Given the description of an element on the screen output the (x, y) to click on. 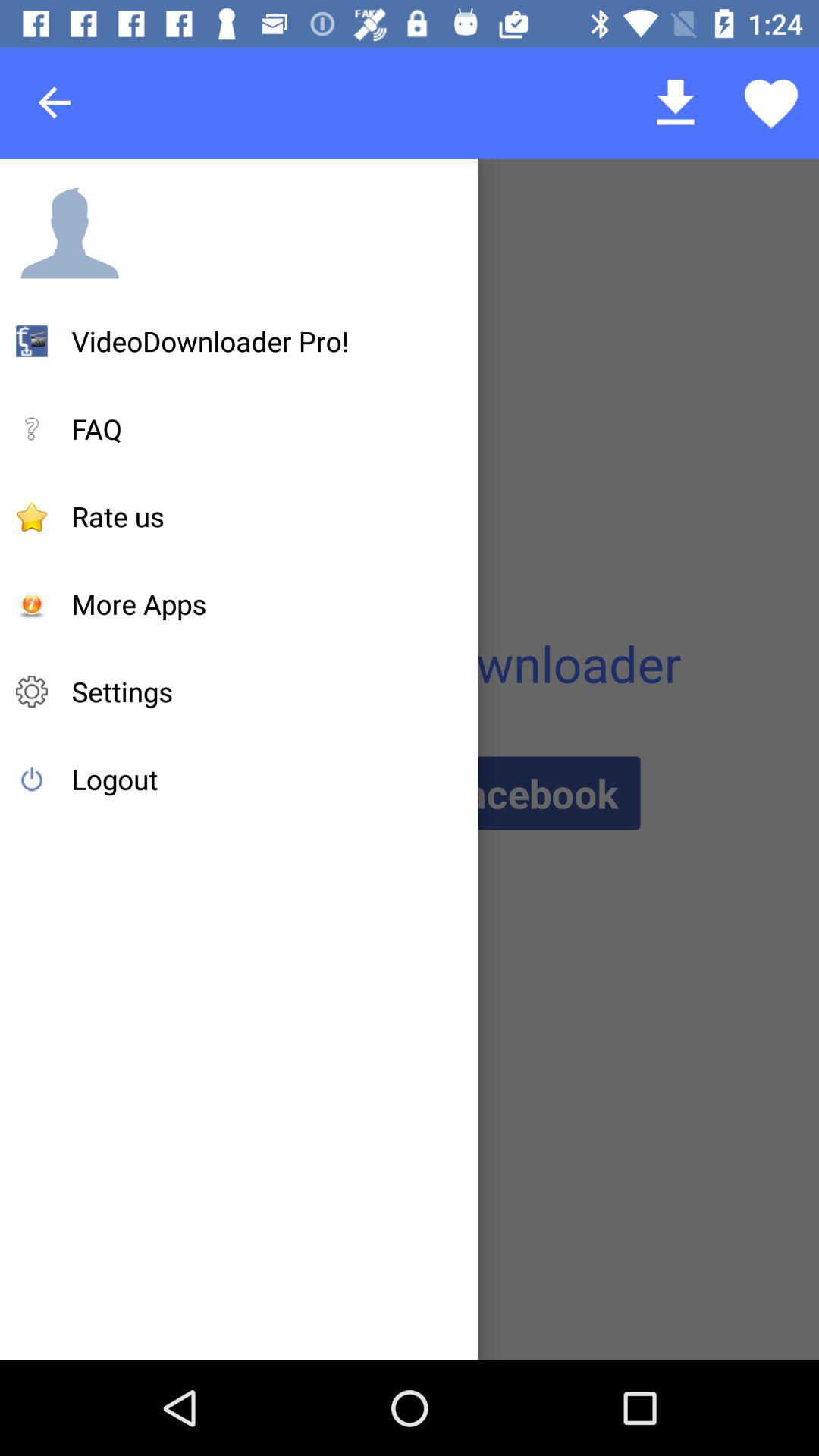
choose the rate us item (117, 516)
